Given the description of an element on the screen output the (x, y) to click on. 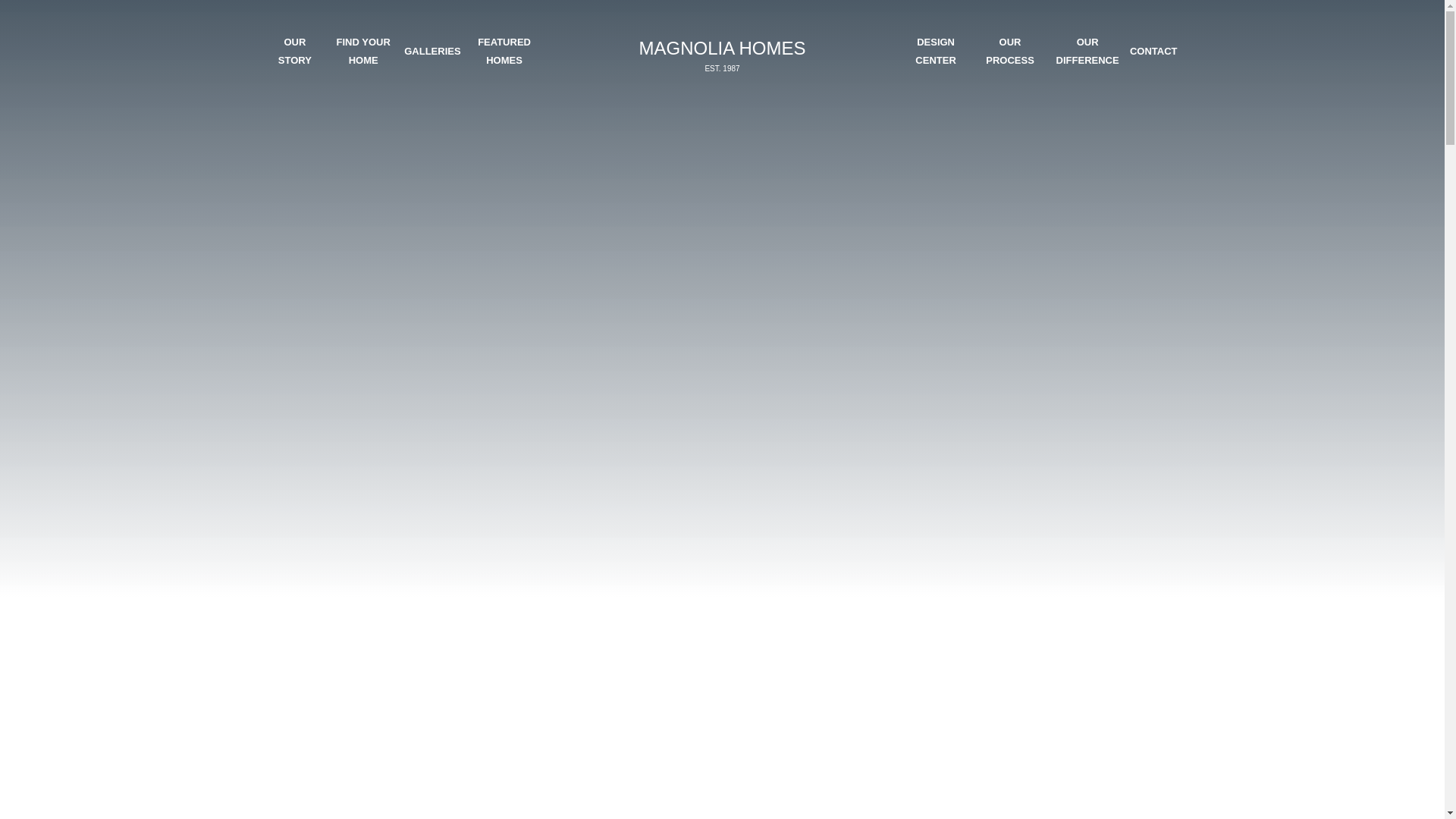
OUR DIFFERENCE (1088, 51)
DESIGN CENTER (935, 51)
CONTACT (1153, 50)
FIND YOUR HOME (363, 51)
OUR PROCESS (1009, 51)
FEATURED HOMES (721, 54)
OUR STORY (504, 51)
GALLERIES (294, 51)
